Given the description of an element on the screen output the (x, y) to click on. 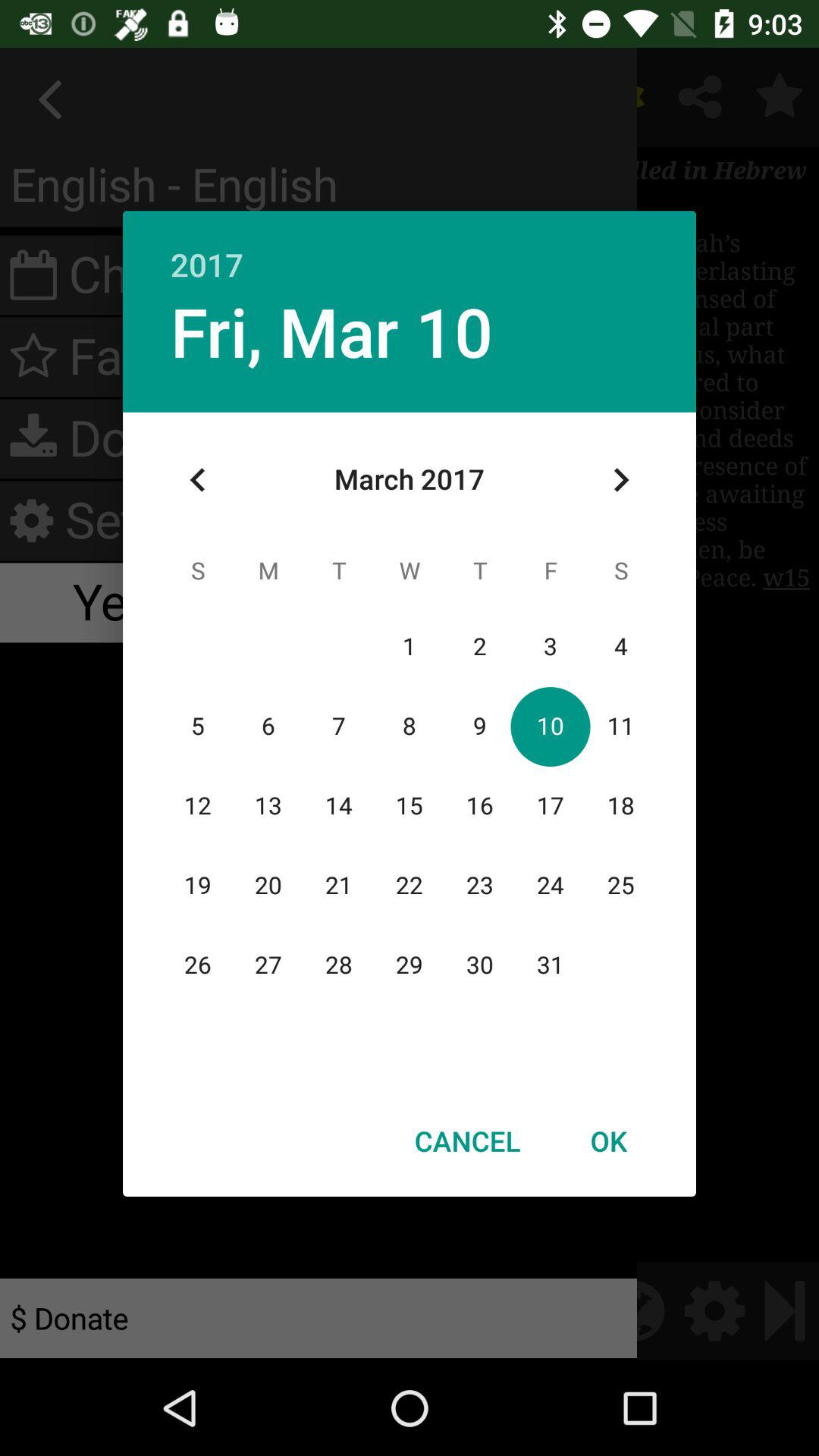
press fri, mar 10 item (331, 331)
